Given the description of an element on the screen output the (x, y) to click on. 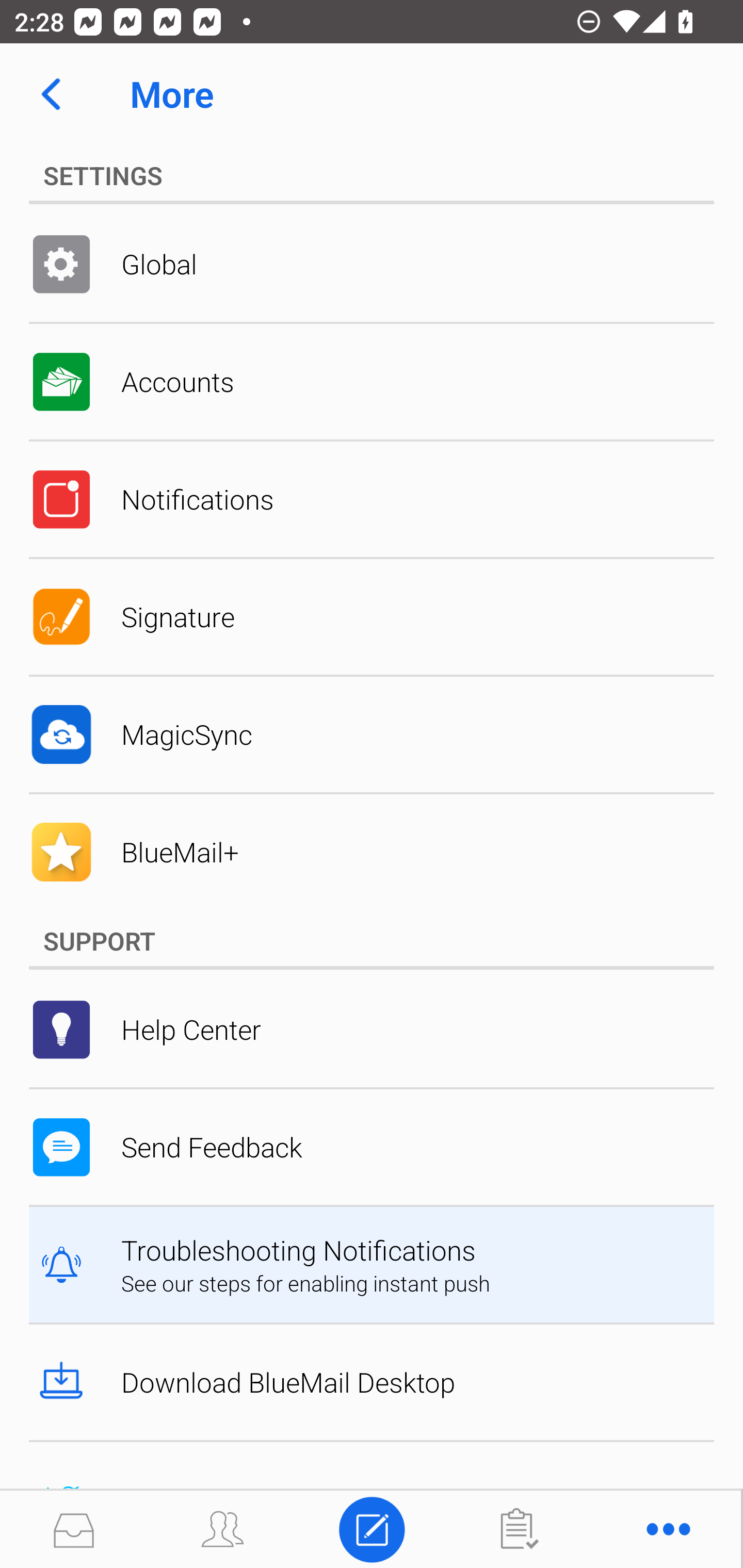
Navigate up (50, 93)
Global (371, 263)
Accounts (371, 381)
Notifications (371, 499)
Signature (371, 616)
MagicSync (371, 734)
BlueMail+ (371, 851)
Help Center (371, 1029)
Send Feedback (371, 1146)
Download BlueMail Desktop (371, 1381)
